Given the description of an element on the screen output the (x, y) to click on. 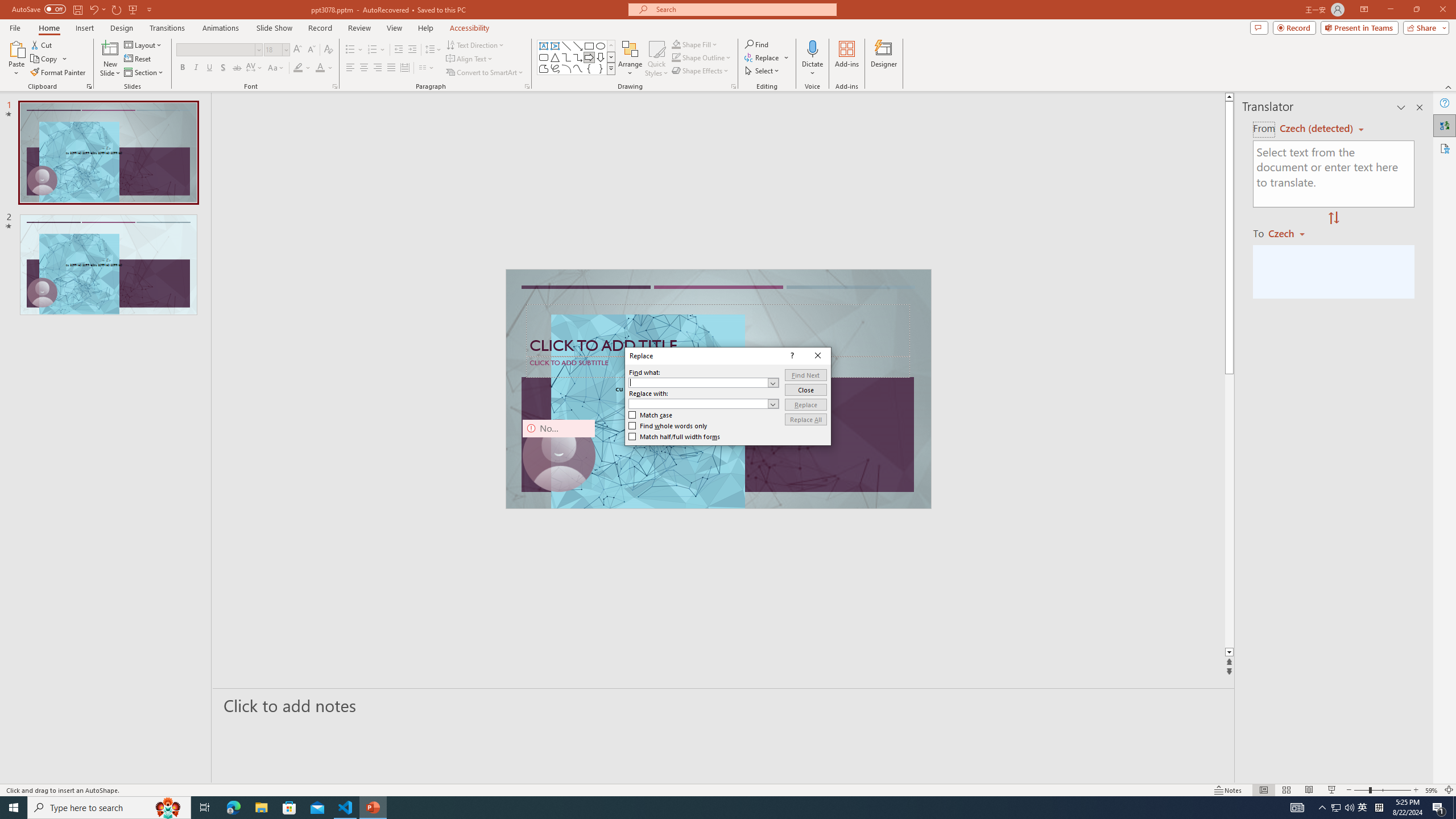
Connector: Elbow Arrow (577, 57)
Czech (detected) (1317, 128)
Replace (805, 404)
